Given the description of an element on the screen output the (x, y) to click on. 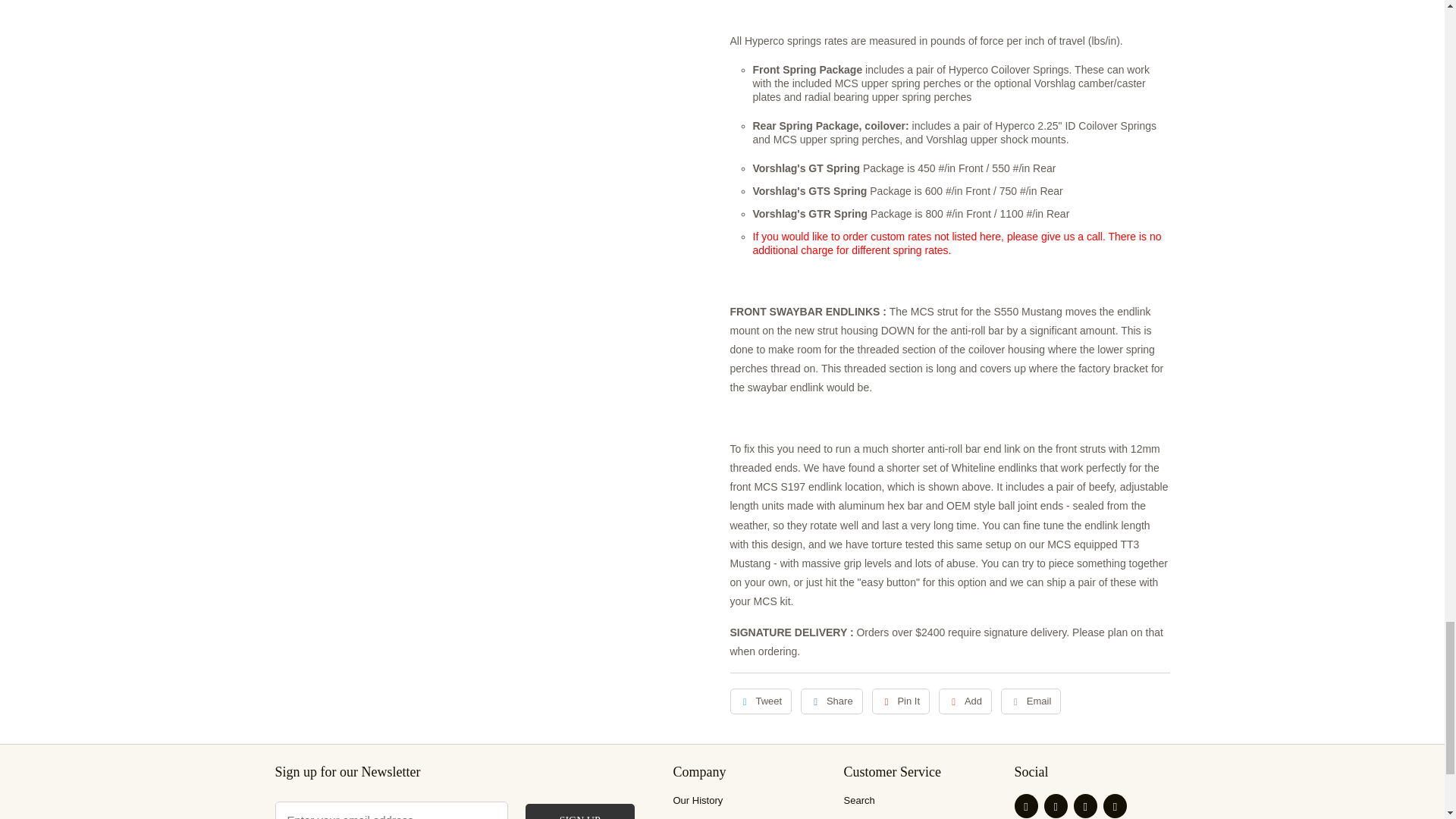
Sign Up (579, 811)
